Given the description of an element on the screen output the (x, y) to click on. 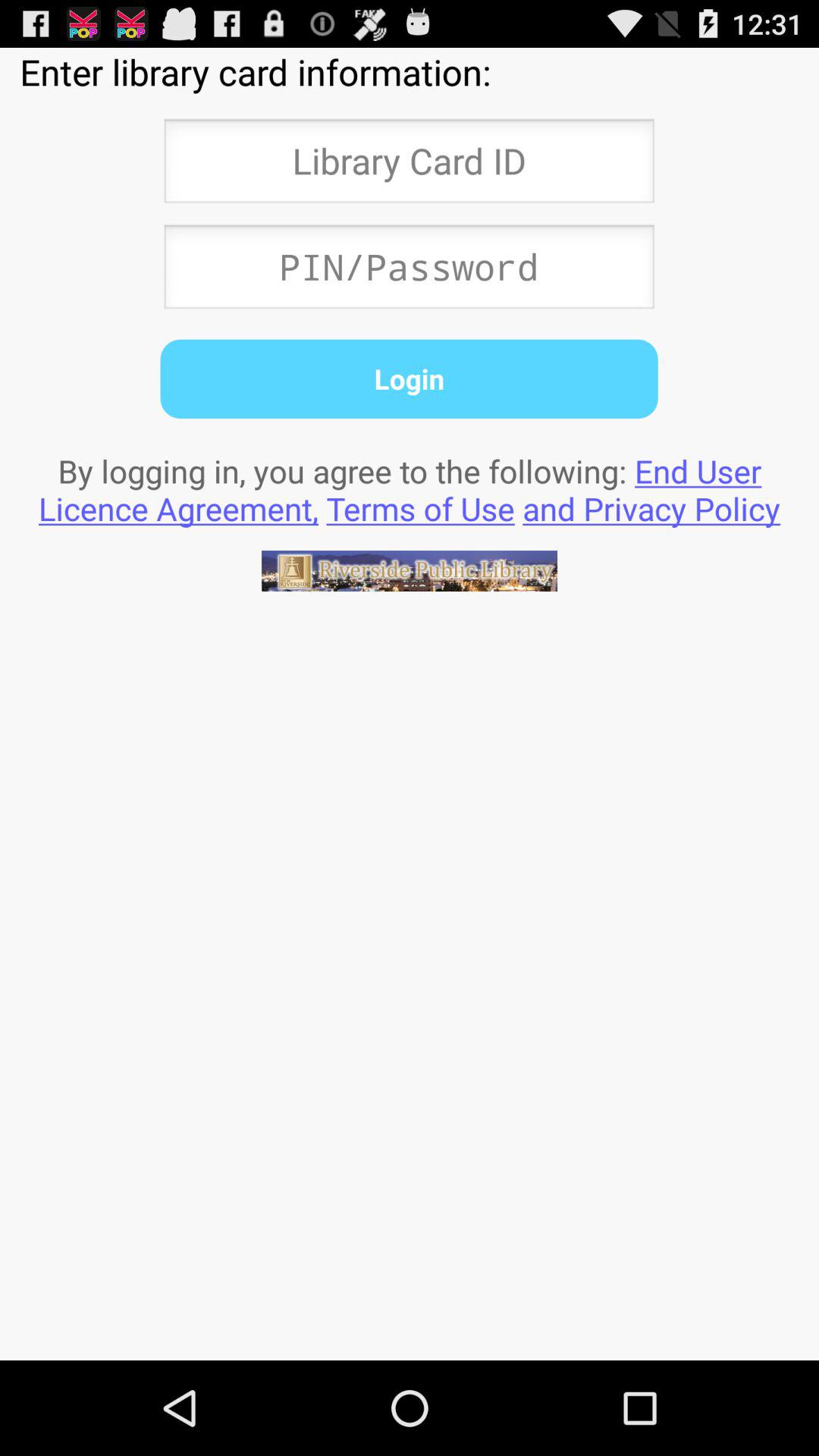
turn off the button below login (409, 489)
